Given the description of an element on the screen output the (x, y) to click on. 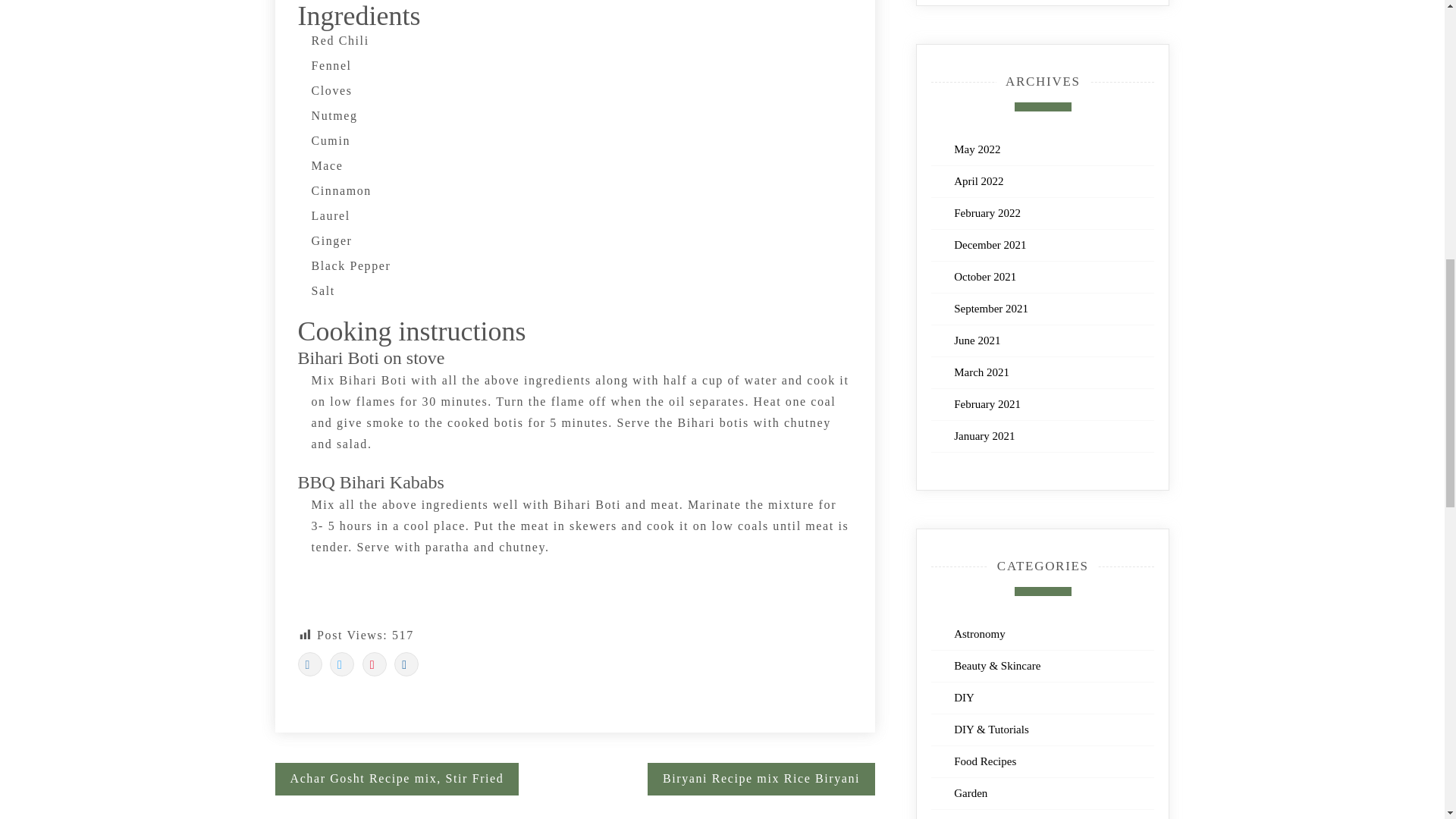
April 2022 (978, 181)
September 2021 (990, 308)
Achar Gosht Recipe mix, Stir Fried (396, 778)
June 2021 (976, 340)
March 2021 (981, 372)
February 2022 (986, 213)
January 2021 (983, 435)
October 2021 (984, 276)
December 2021 (989, 244)
Biryani Recipe mix Rice Biryani (761, 778)
February 2021 (986, 404)
May 2022 (976, 149)
Astronomy (986, 633)
